Given the description of an element on the screen output the (x, y) to click on. 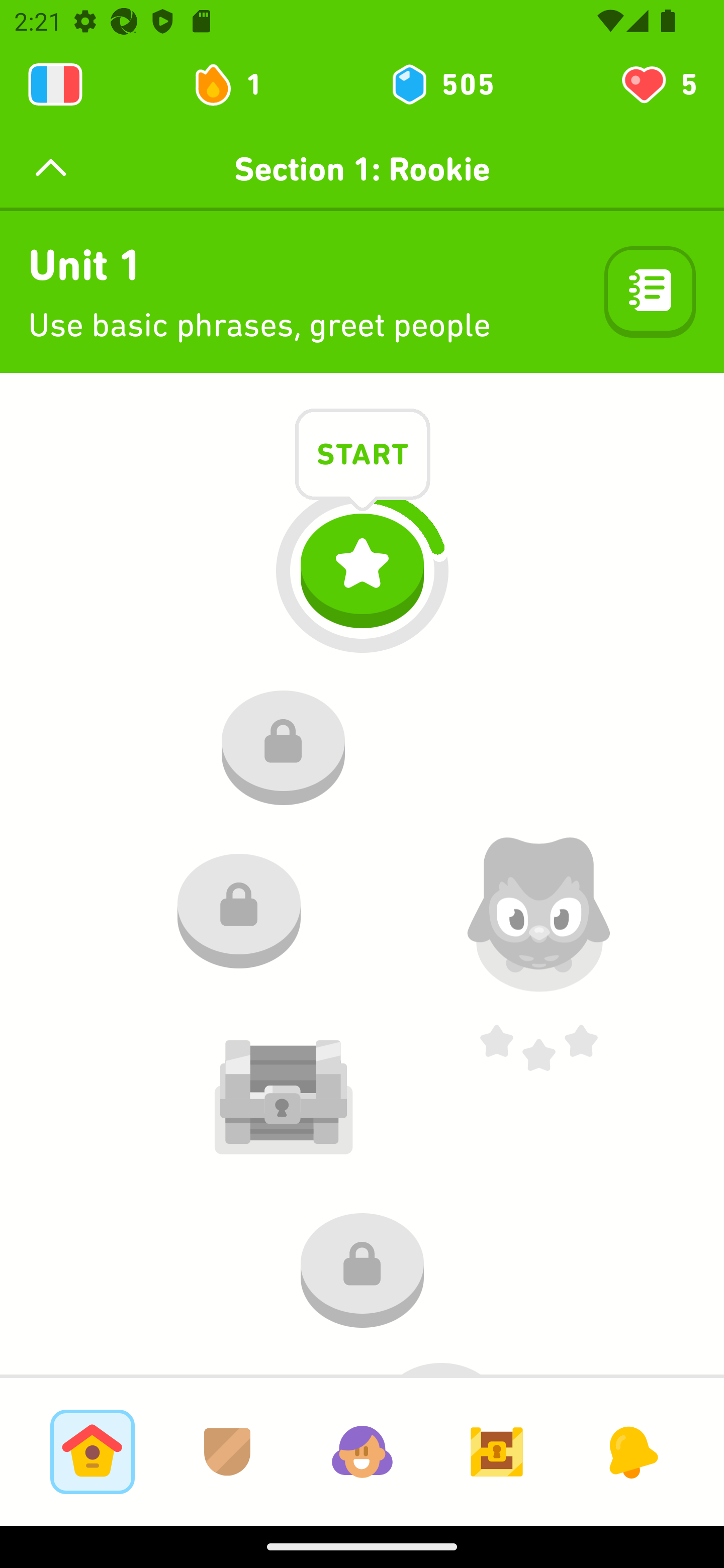
Learning 2131888976 (55, 84)
1 day streak 1 (236, 84)
505 (441, 84)
You have 5 hearts left 5 (657, 84)
Section 1: Rookie (362, 169)
START (362, 457)
Learn Tab (91, 1451)
Leagues Tab (227, 1451)
Profile Tab (361, 1451)
Goals Tab (496, 1451)
News Tab (631, 1451)
